Given the description of an element on the screen output the (x, y) to click on. 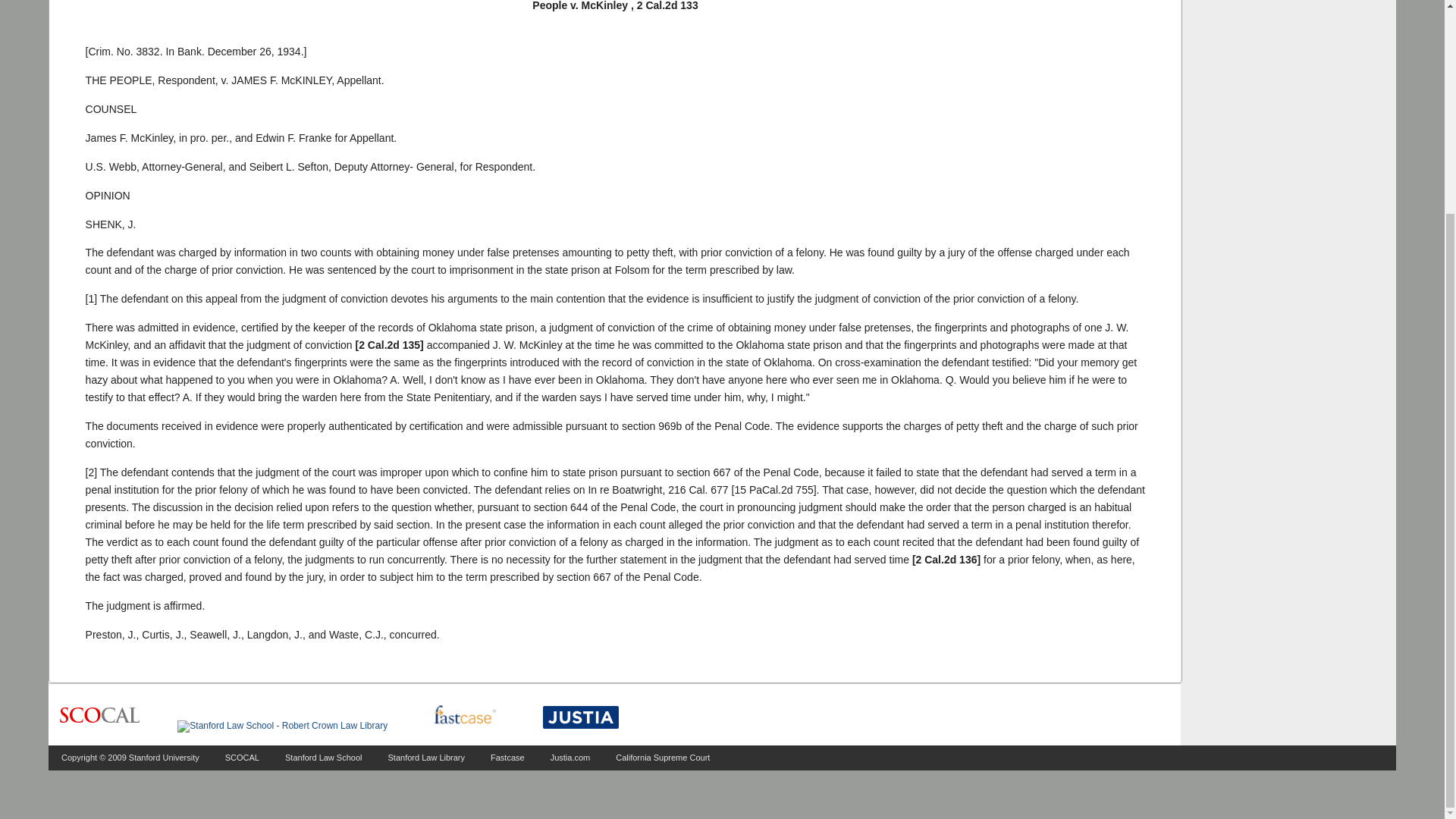
Fastcase (507, 757)
Stanford Law Library (426, 757)
Justia.com (570, 757)
SCOCAL (242, 757)
Supreme Court of California (99, 715)
Stanford Law School - Robert Crown Law Library (282, 726)
fastcase (464, 716)
Stanford Law School (323, 757)
Justia (580, 716)
California Supreme Court (662, 757)
